Given the description of an element on the screen output the (x, y) to click on. 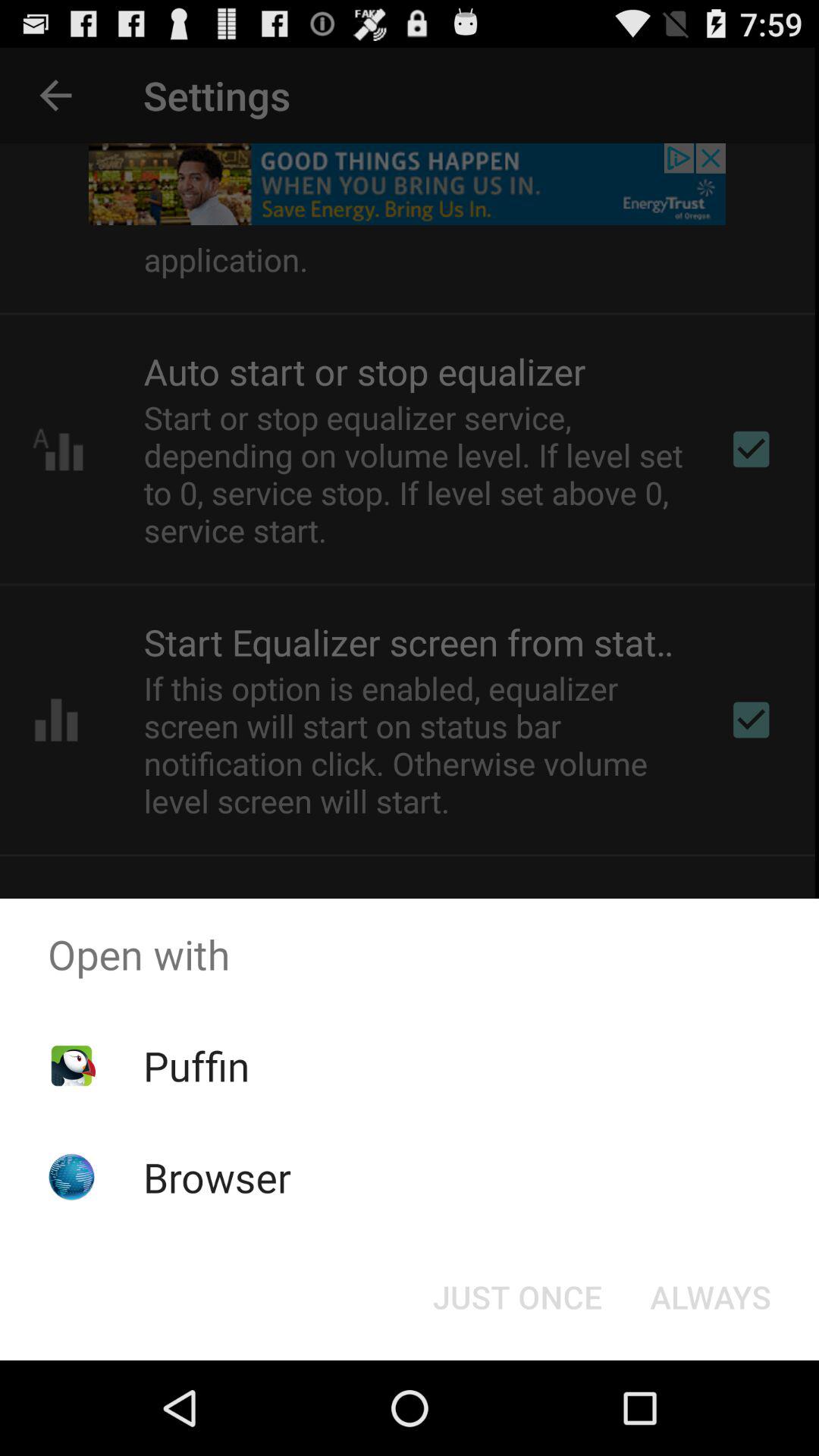
scroll to puffin app (196, 1065)
